Given the description of an element on the screen output the (x, y) to click on. 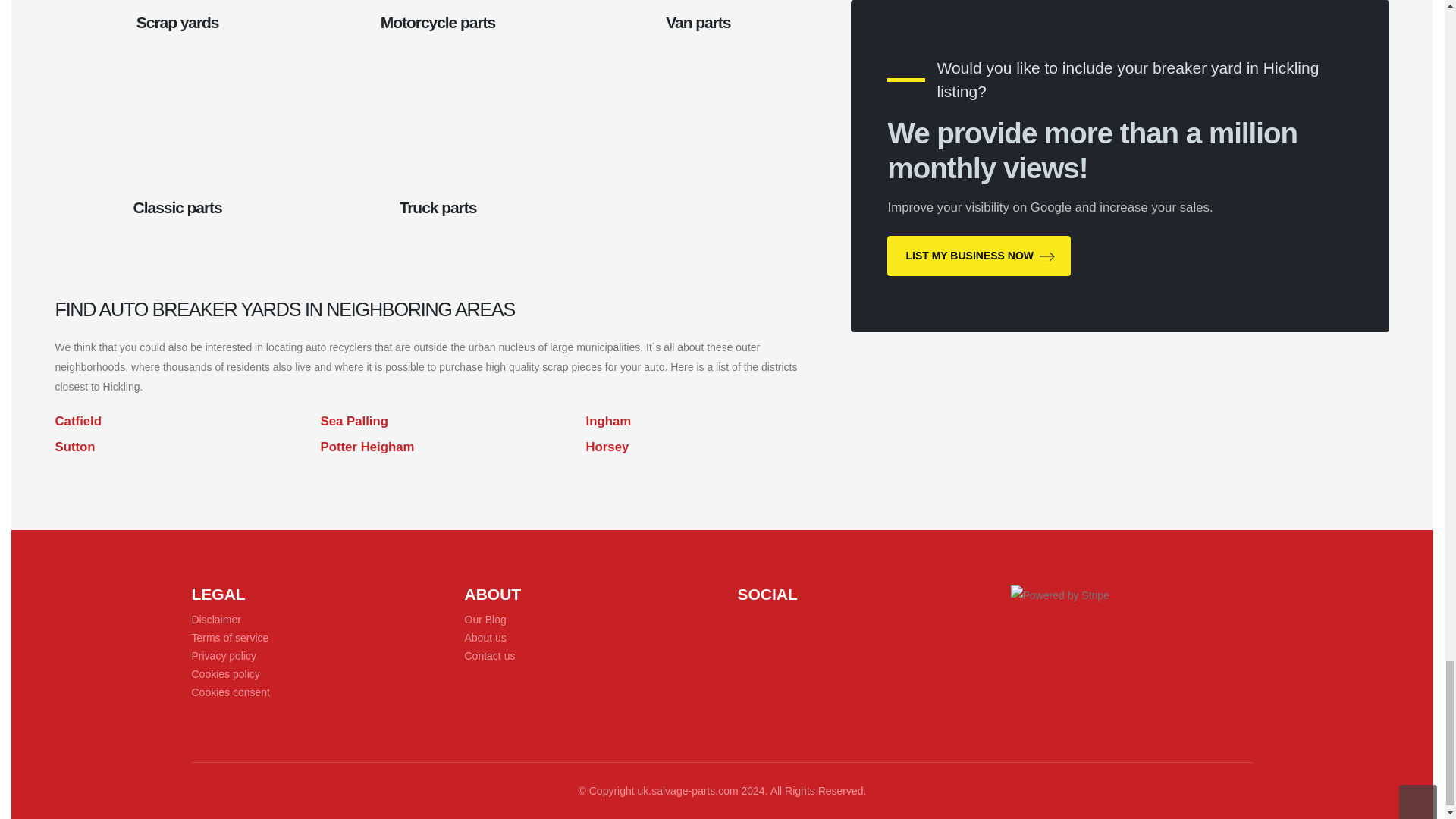
Linkedin (797, 619)
Facebook (747, 619)
Twitter (772, 619)
